Given the description of an element on the screen output the (x, y) to click on. 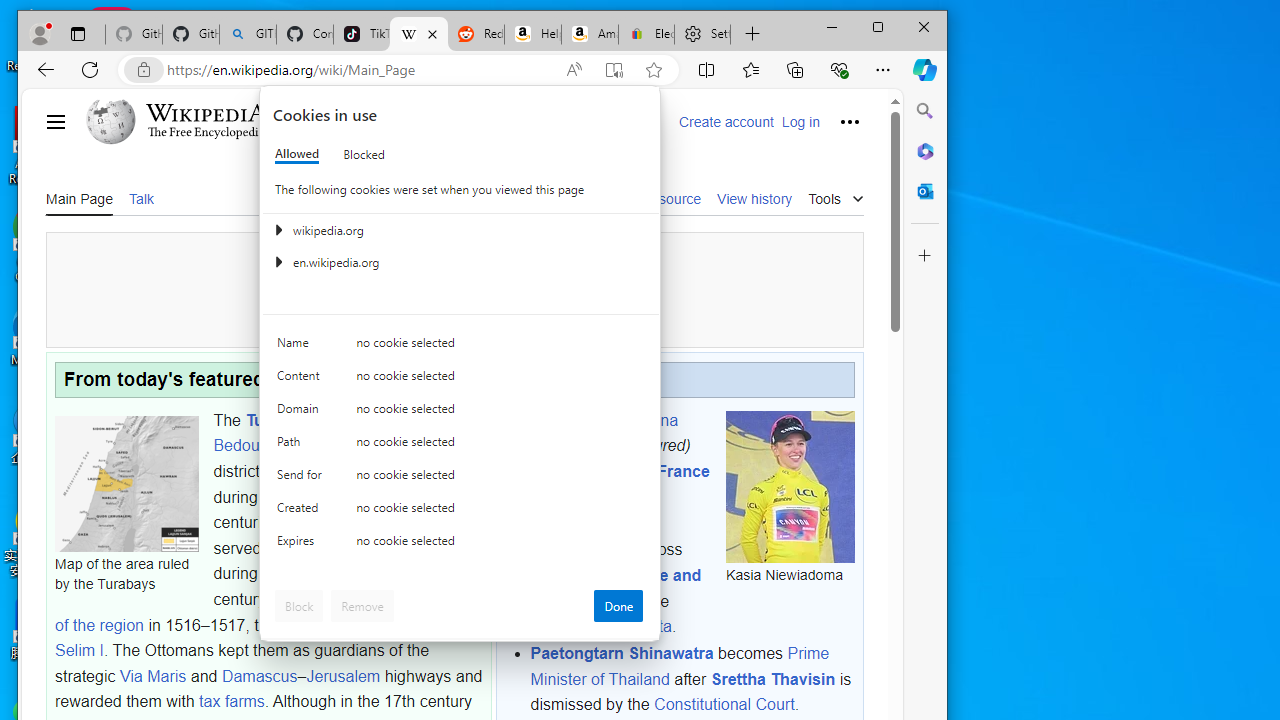
Remove (362, 605)
Expires (302, 544)
Blocked (363, 153)
Done (617, 605)
Allowed (296, 153)
Domain (302, 413)
Path (302, 446)
Class: c0153 c0157 c0154 (460, 347)
Send for (302, 479)
Created (302, 511)
Class: c0153 c0157 (460, 545)
Name (302, 346)
Block (299, 605)
no cookie selected (500, 544)
Content (302, 380)
